Given the description of an element on the screen output the (x, y) to click on. 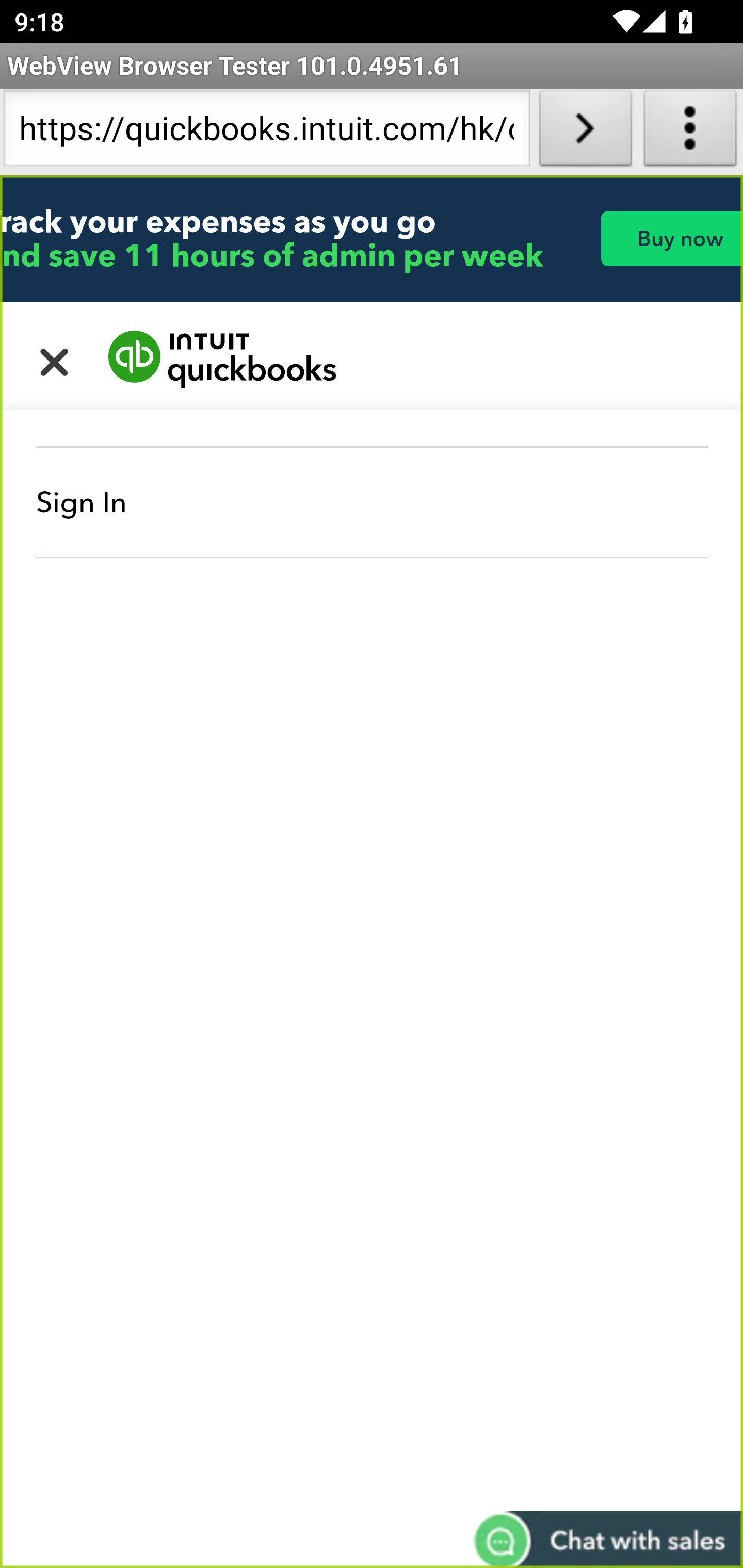
Load URL (585, 132)
About WebView (690, 132)
Buy now (671, 238)
quickbooks-mobile-burger (54, 359)
quickbooks (222, 359)
Sign In (372, 502)
